Given the description of an element on the screen output the (x, y) to click on. 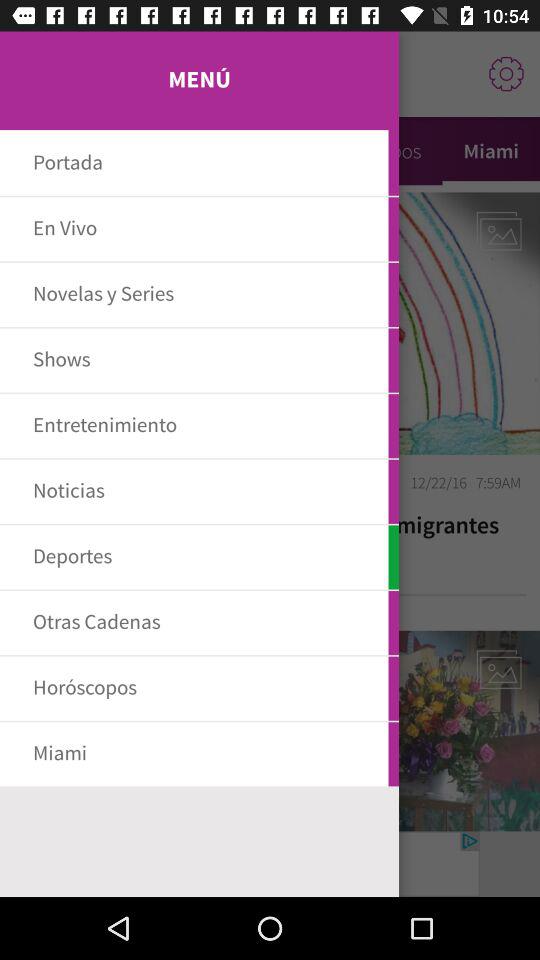
click on miami (491, 151)
select the settings icon from the right top (506, 74)
